Given the description of an element on the screen output the (x, y) to click on. 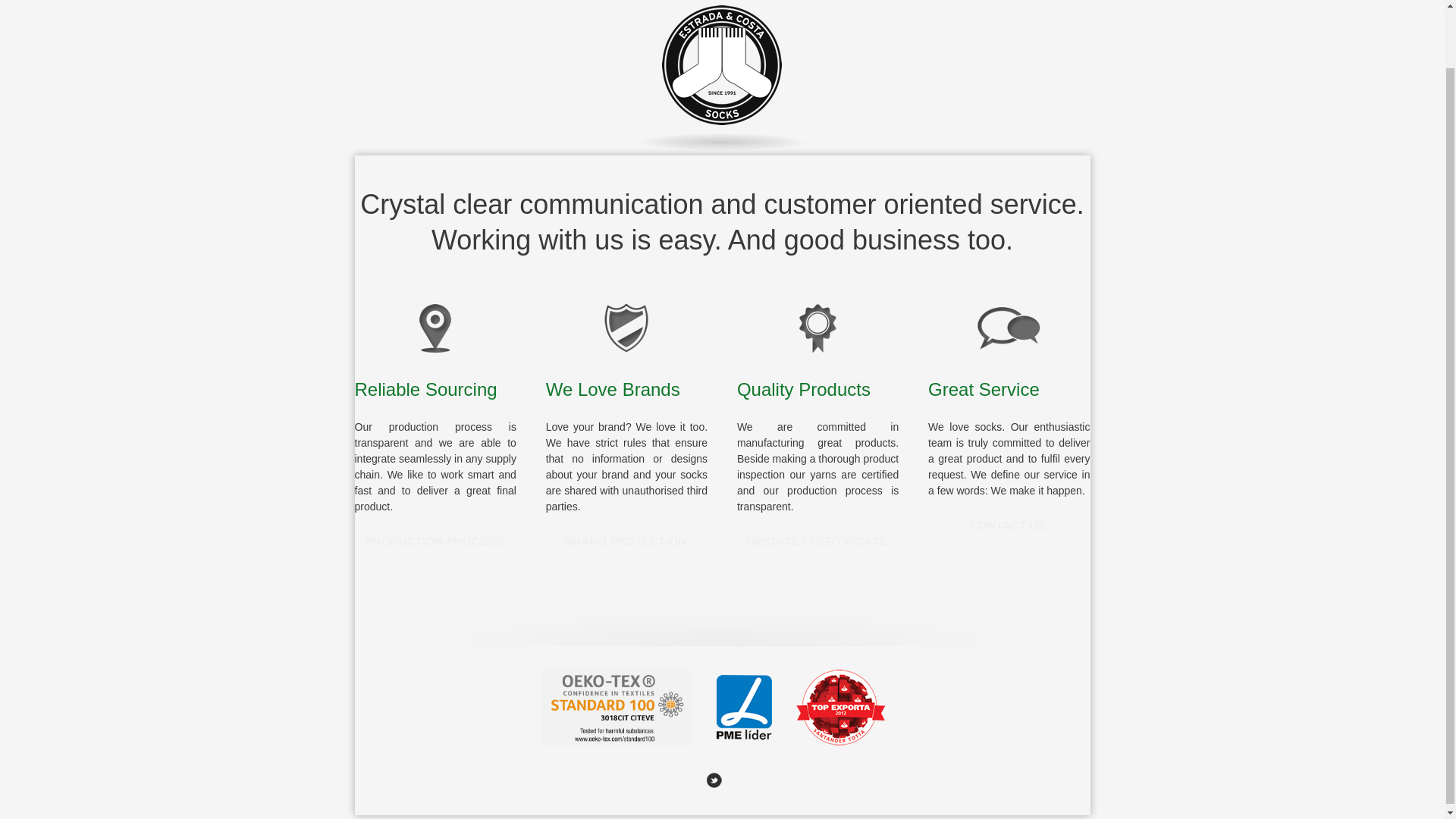
twitter (714, 780)
BRAND PROTECTION (625, 542)
CONTACT US (1007, 526)
OEKO-TEX CERTIFICATE (816, 542)
PRODUCTION PROCESS (434, 542)
